Given the description of an element on the screen output the (x, y) to click on. 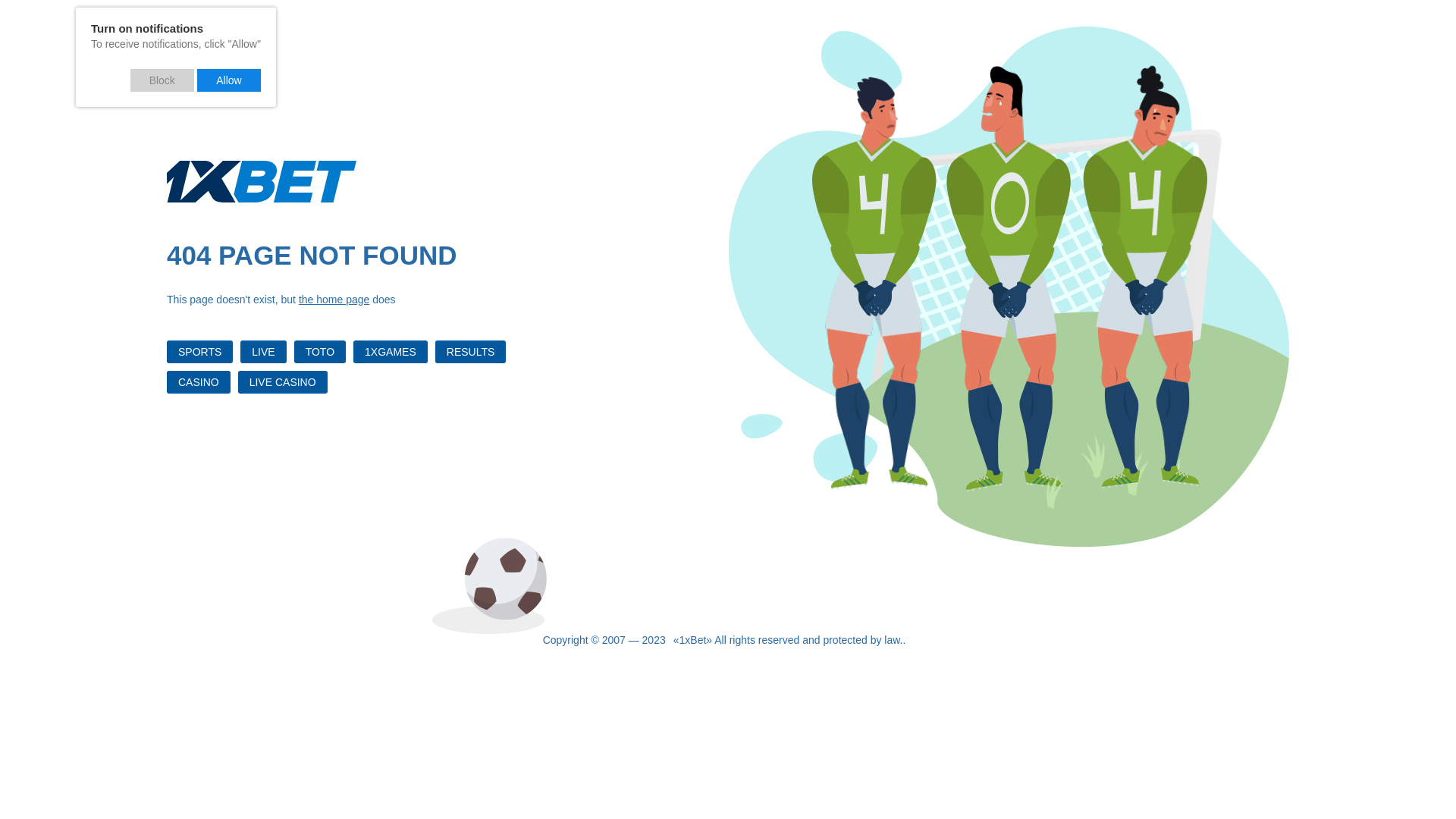
LIVE CASINO Element type: text (282, 381)
TOTO Element type: text (319, 351)
Allow Element type: text (228, 80)
SPORTS Element type: text (199, 351)
CASINO Element type: text (198, 381)
RESULTS Element type: text (470, 351)
the home page Element type: text (333, 299)
1XGAMES Element type: text (390, 351)
Block Element type: text (162, 80)
LIVE Element type: text (262, 351)
